Given the description of an element on the screen output the (x, y) to click on. 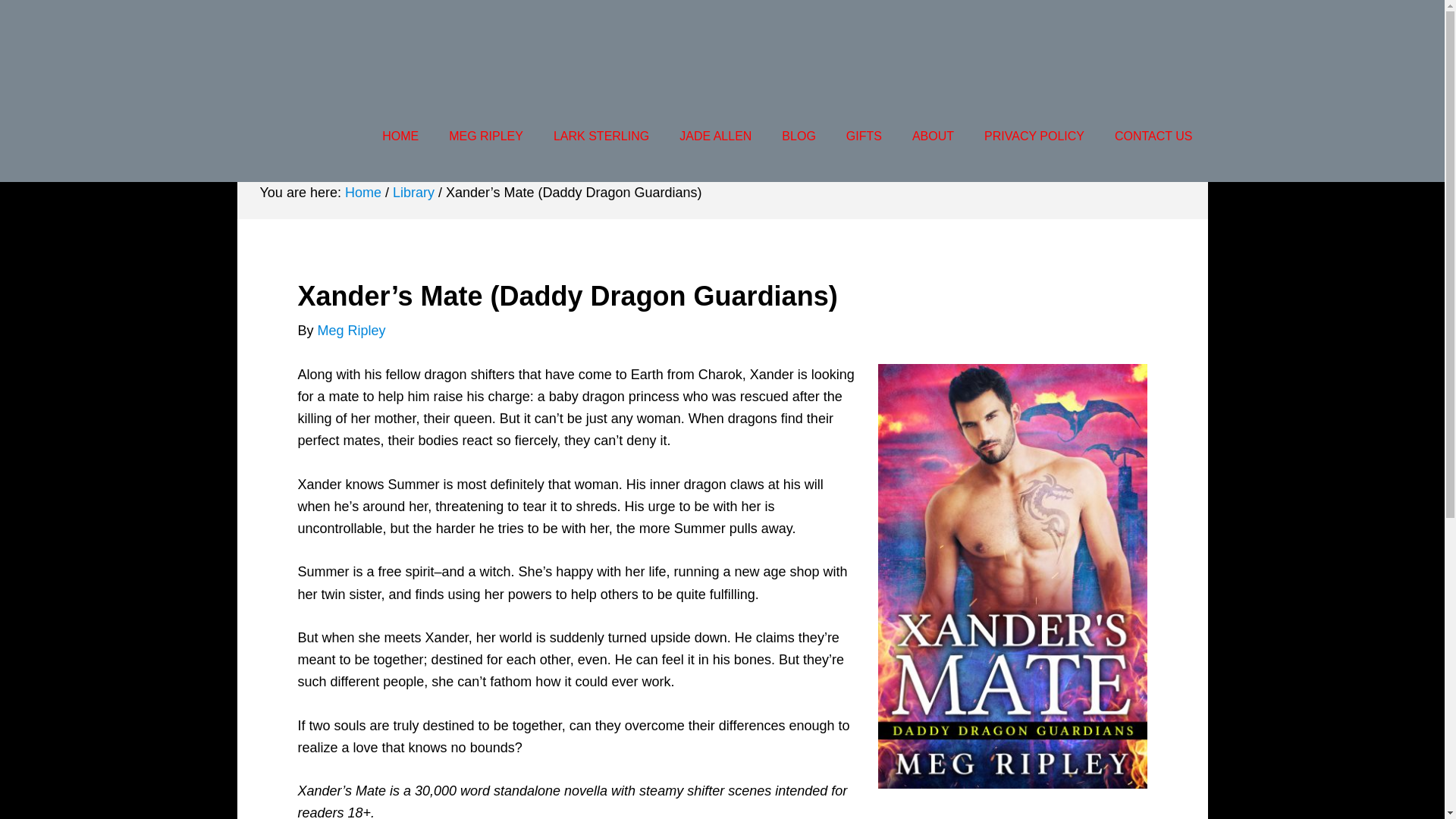
Library (413, 192)
PARANORMAL ROMANCE (551, 128)
LARK STERLING (600, 135)
MEG RIPLEY (485, 135)
JADE ALLEN (715, 135)
Meg Ripley (351, 330)
ALL BOOKS (1150, 128)
CONTACT US (1153, 135)
Home (363, 192)
CONTEMPORARY ROMANCE (343, 128)
Red Lily Publishing (357, 45)
PRIVACY POLICY (1034, 135)
